Given the description of an element on the screen output the (x, y) to click on. 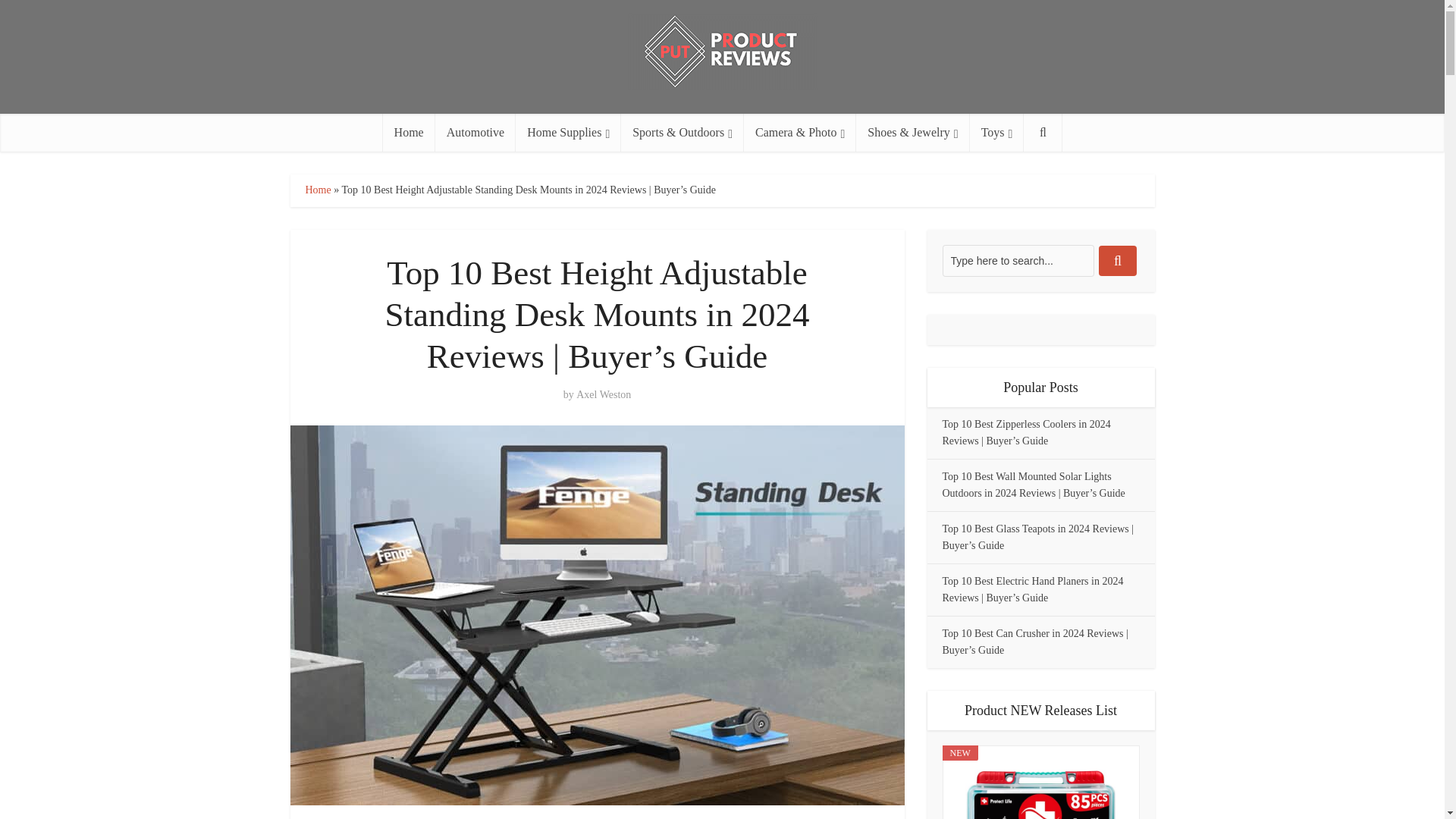
Axel Weston (603, 395)
Type here to search... (1017, 260)
Toys (997, 132)
Home Supplies (568, 132)
Type here to search... (1017, 260)
Home (408, 132)
Home (317, 189)
Automotive (475, 132)
